Given the description of an element on the screen output the (x, y) to click on. 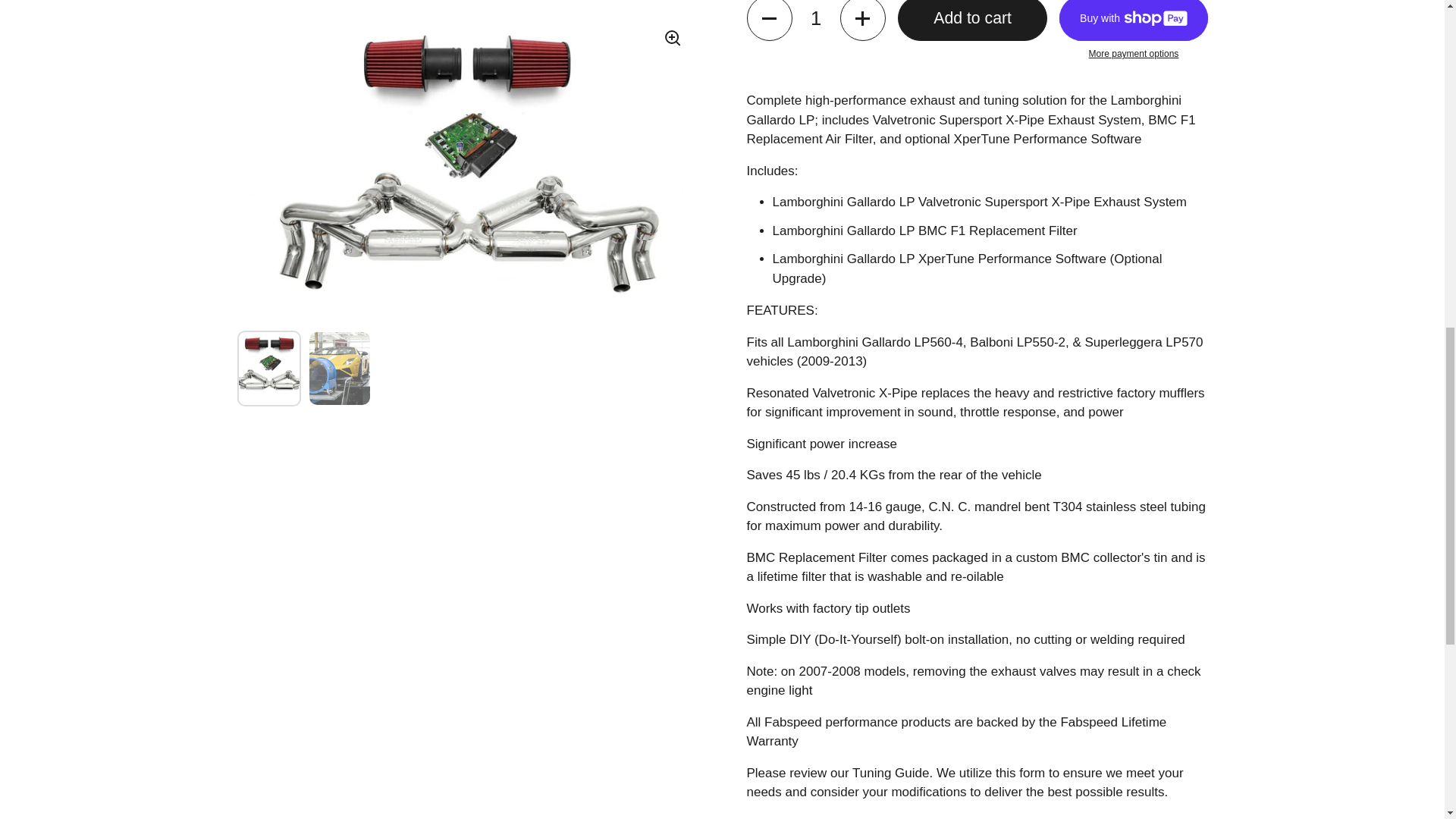
1 (815, 20)
